Given the description of an element on the screen output the (x, y) to click on. 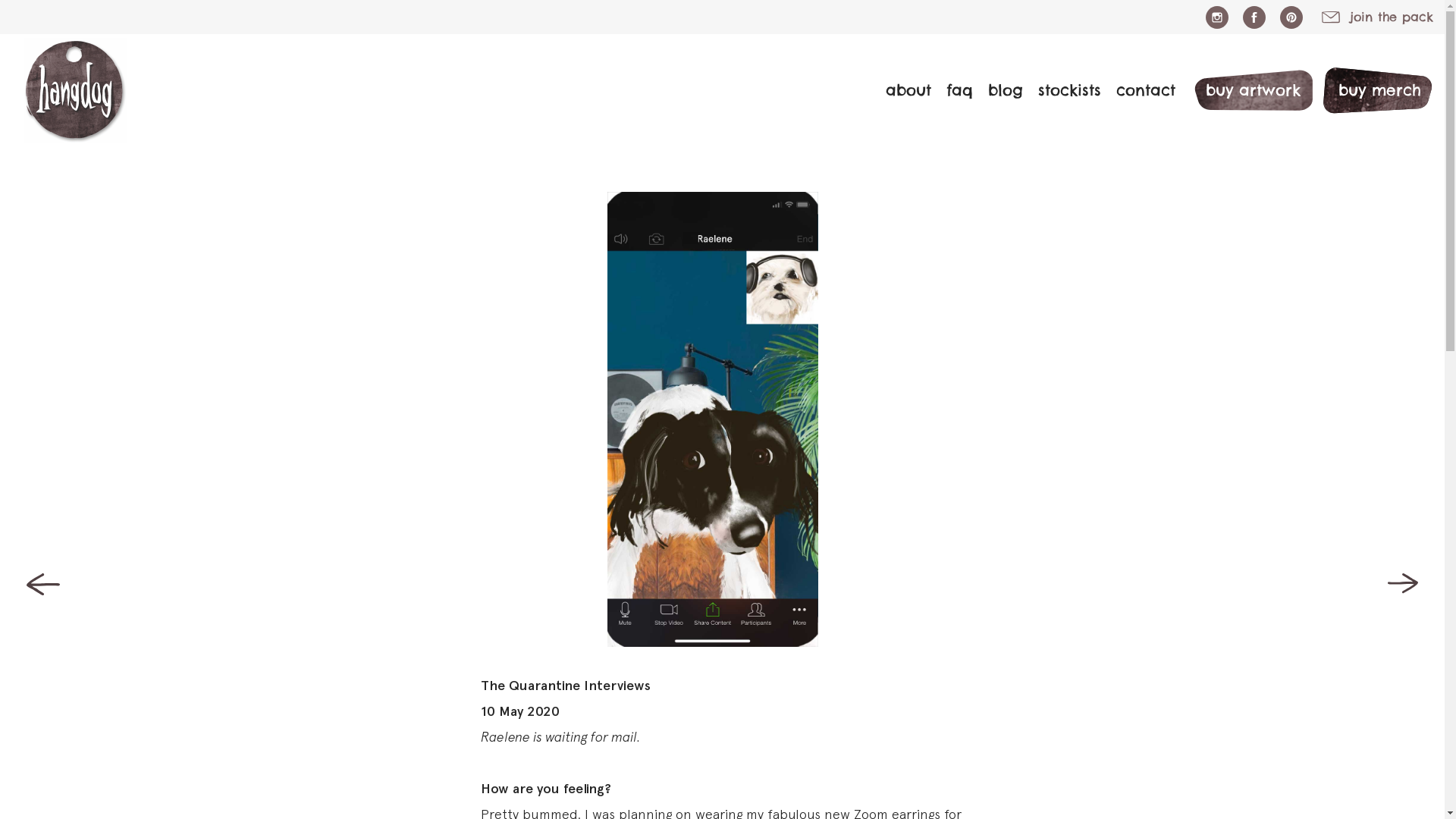
Skip to content Element type: text (0, 34)
join the pack Element type: text (1377, 16)
blog Element type: text (997, 89)
faq Element type: text (951, 89)
about Element type: text (900, 89)
buy artwork Element type: text (1245, 89)
stockists Element type: text (1061, 89)
contact Element type: text (1138, 89)
buy merch Element type: text (1372, 89)
